Given the description of an element on the screen output the (x, y) to click on. 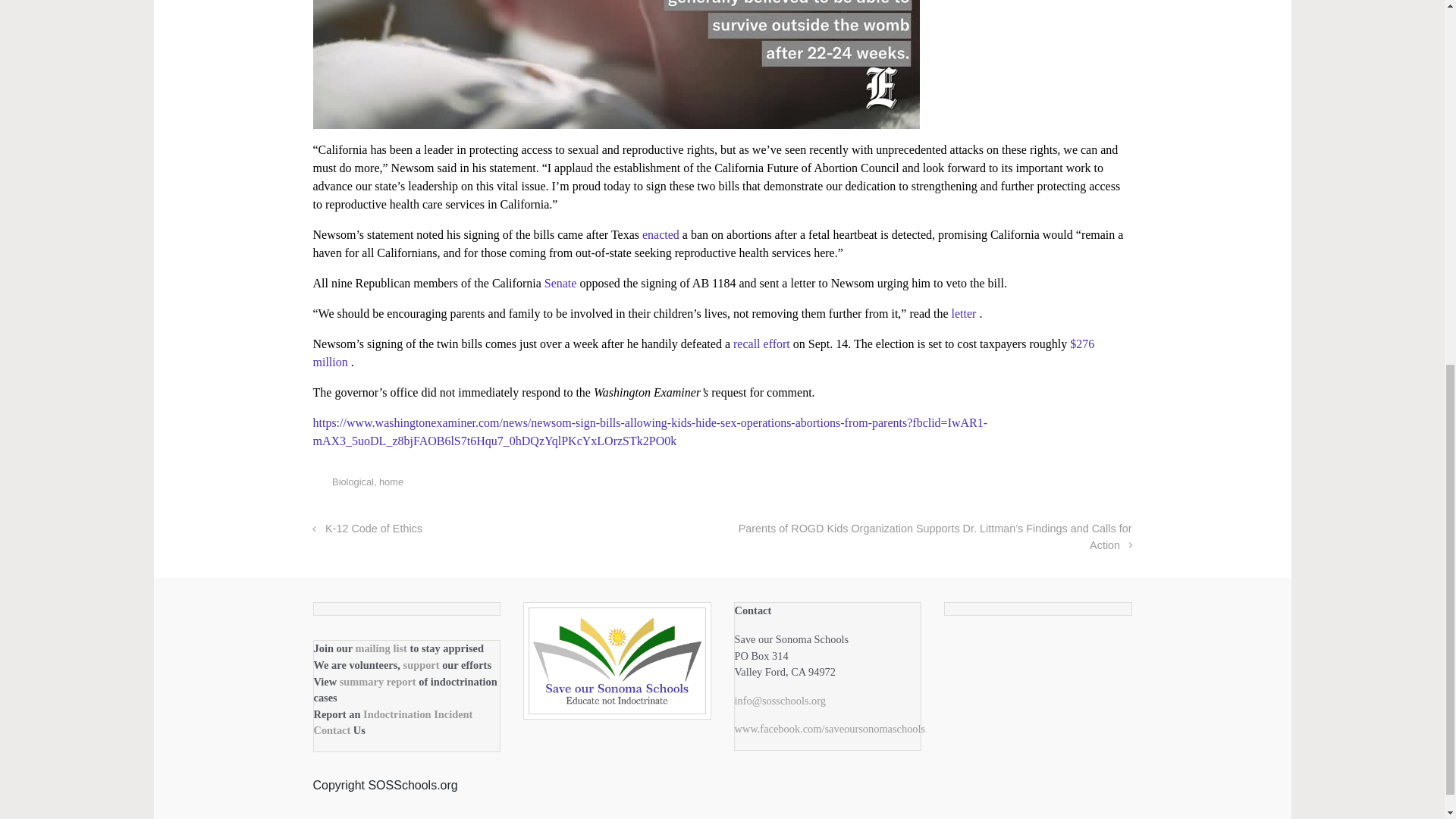
enacted  (662, 234)
K-12 Code of Ethics (367, 528)
Indoctrination Incident (416, 713)
home (390, 481)
Biological (352, 481)
letter  (965, 313)
support  (422, 664)
Contact (333, 729)
recall effort  (763, 343)
Senate  (561, 282)
summary report (377, 681)
mailing list  (382, 648)
